Given the description of an element on the screen output the (x, y) to click on. 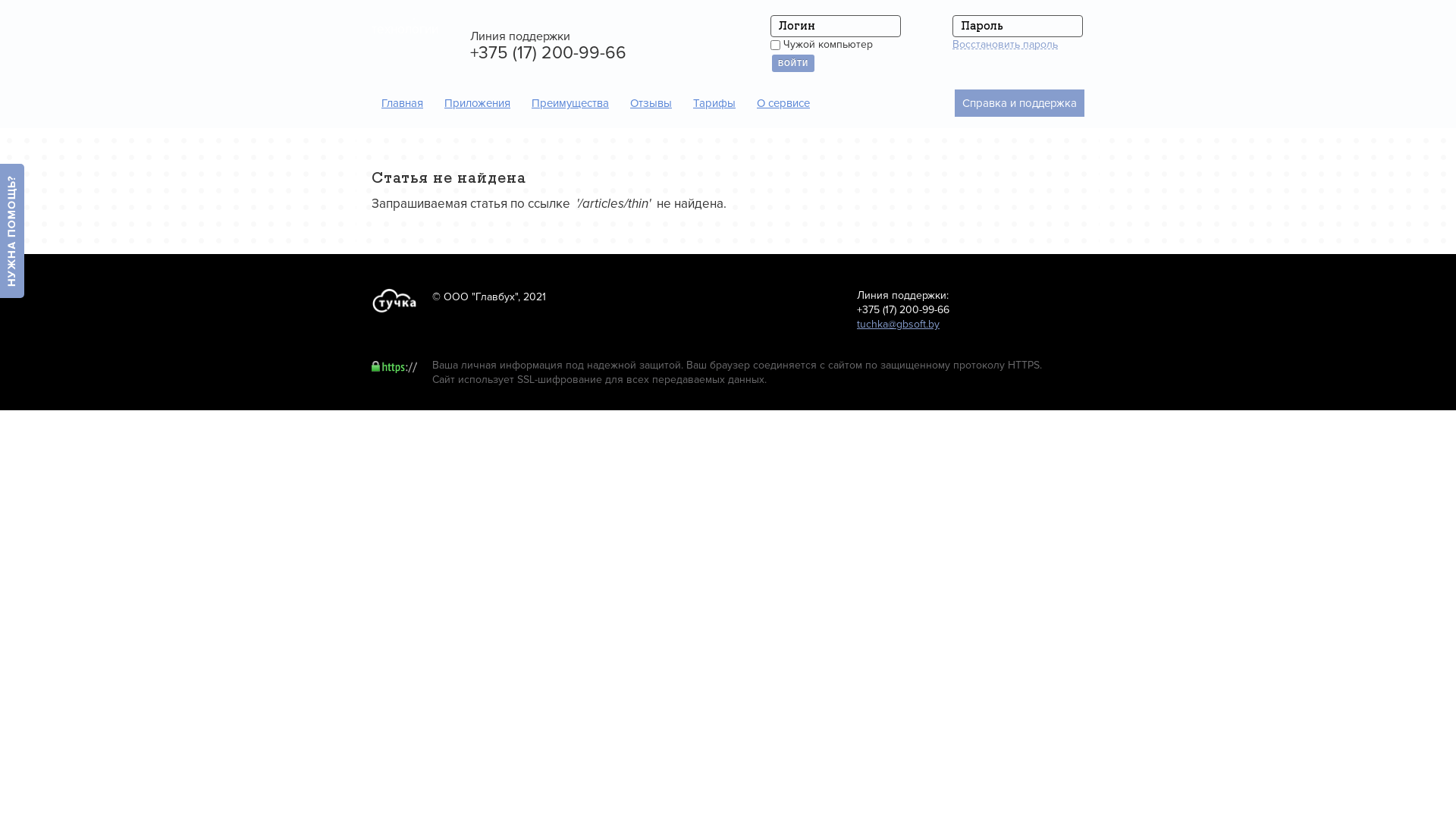
tuchka@gbsoft.by Element type: text (897, 323)
